Given the description of an element on the screen output the (x, y) to click on. 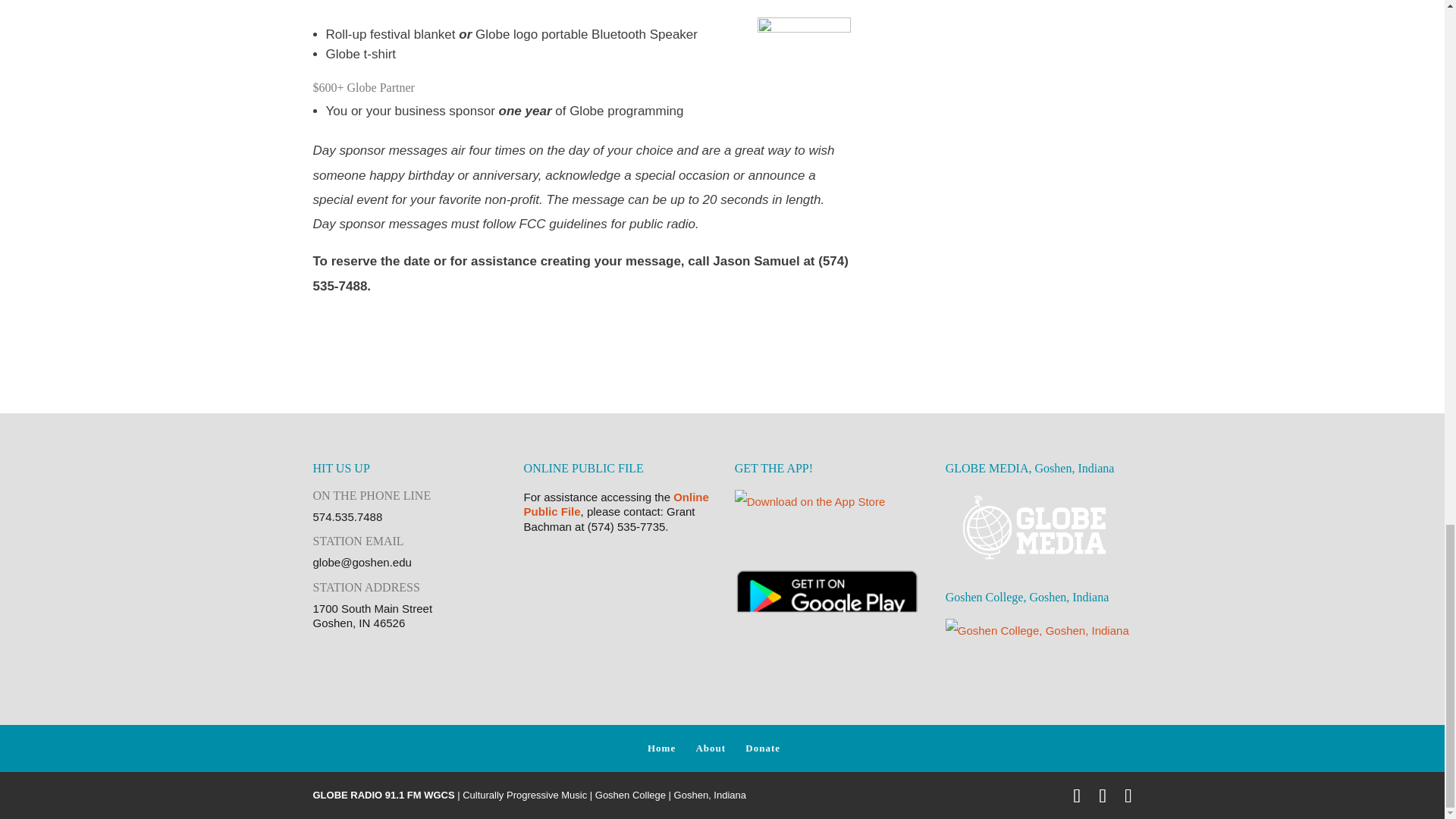
GLOBE MEDIA, Goshen, Indiana (1038, 527)
Online Public File (616, 504)
Online Public File (616, 504)
About (710, 747)
GLOBE RADIO 91.1 FM WGCS (383, 794)
GLOBE RADIO (383, 794)
Home (661, 747)
Goshen College, Goshen, Indiana (1038, 659)
Donate (762, 747)
